Given the description of an element on the screen output the (x, y) to click on. 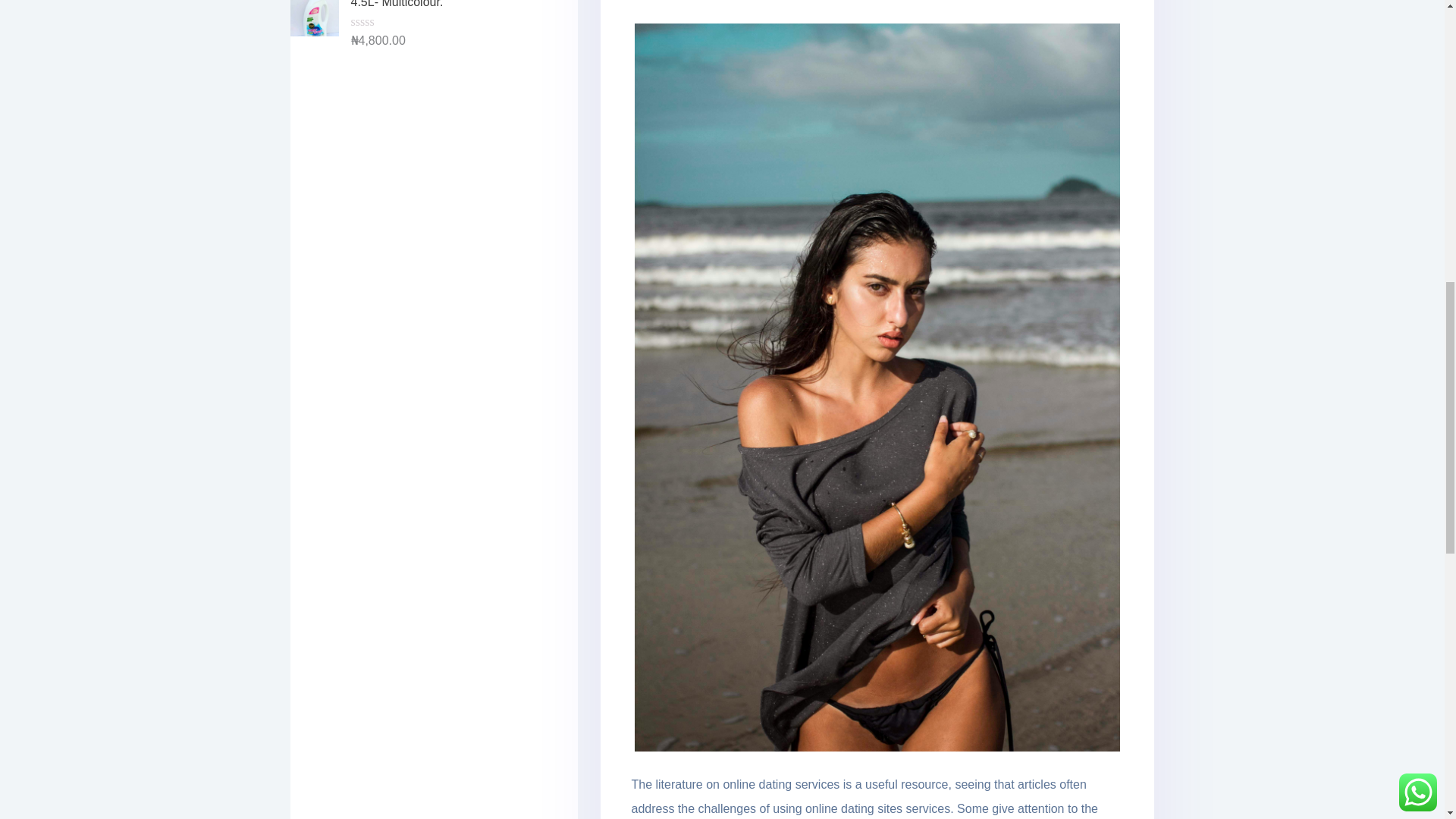
EASYWASH LAUNDRY DETERGENT 4.5L- Multicolour. (419, 5)
